Given the description of an element on the screen output the (x, y) to click on. 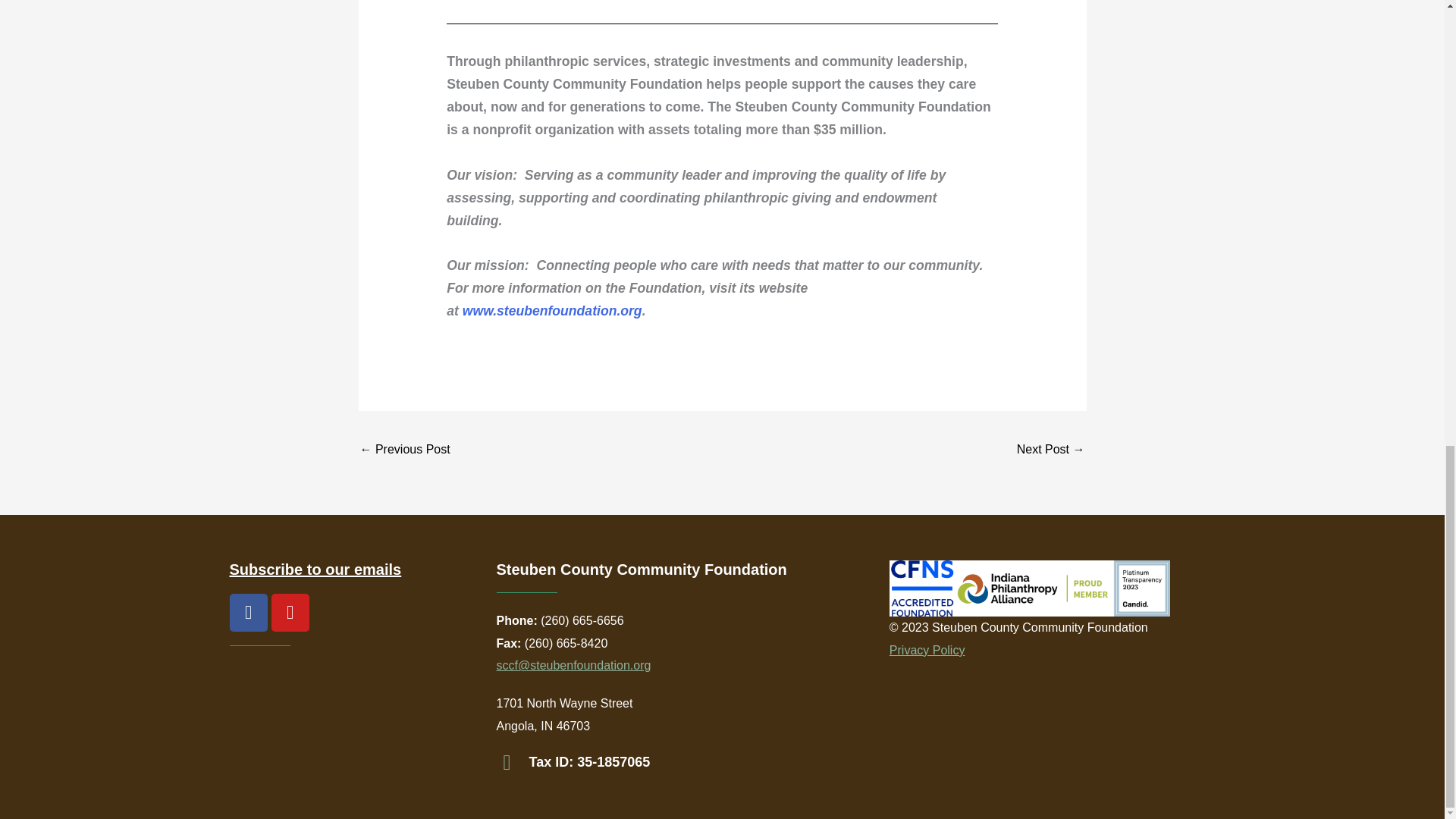
30th Anniversary Celebration Gift (404, 450)
